Given the description of an element on the screen output the (x, y) to click on. 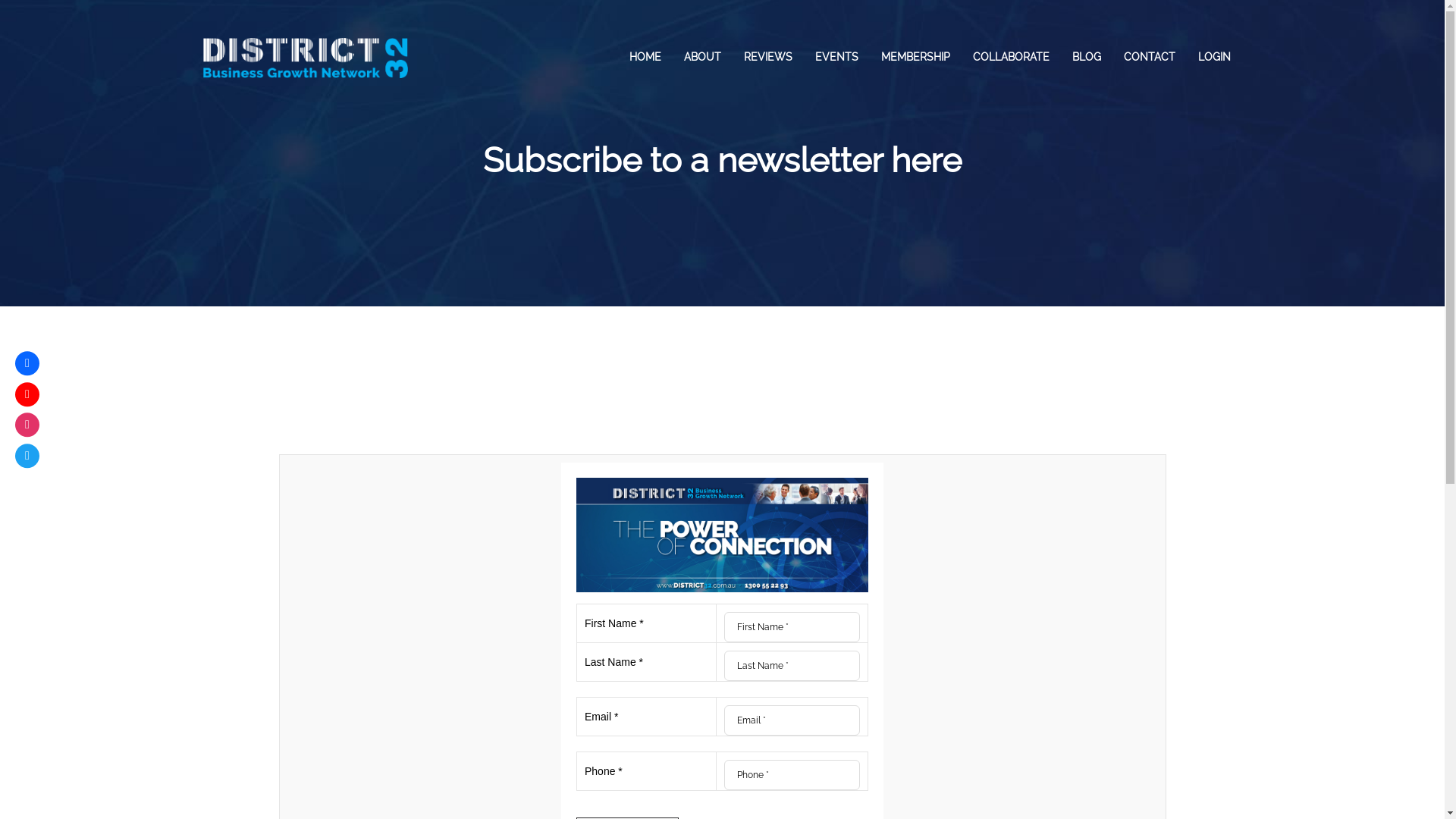
REVIEWS Element type: text (767, 56)
HOME Element type: text (644, 56)
Interesting Image Element type: hover (722, 534)
BLOG Element type: text (1085, 56)
COLLABORATE Element type: text (1010, 56)
ABOUT Element type: text (701, 56)
Twitter Element type: hover (27, 455)
CONTACT Element type: text (1148, 56)
LOGIN Element type: text (1213, 56)
Facebook Element type: hover (27, 363)
Instagram Element type: hover (27, 424)
Youtube Element type: hover (27, 394)
MEMBERSHIP Element type: text (914, 56)
EVENTS Element type: text (836, 56)
